Given the description of an element on the screen output the (x, y) to click on. 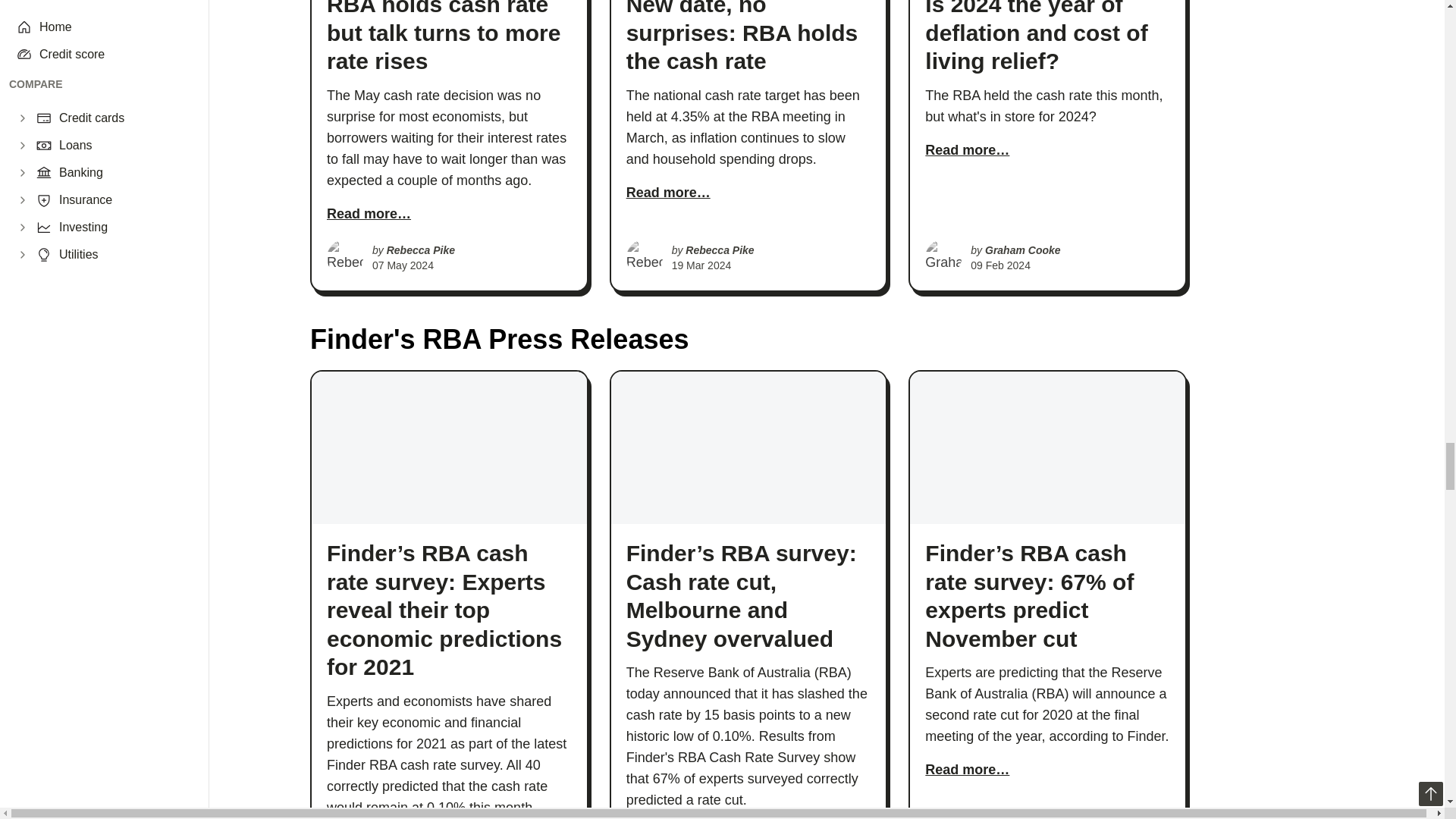
19 Mar 2024 (701, 265)
09 Feb 2024 (1000, 265)
07 May 2024 (402, 265)
